Given the description of an element on the screen output the (x, y) to click on. 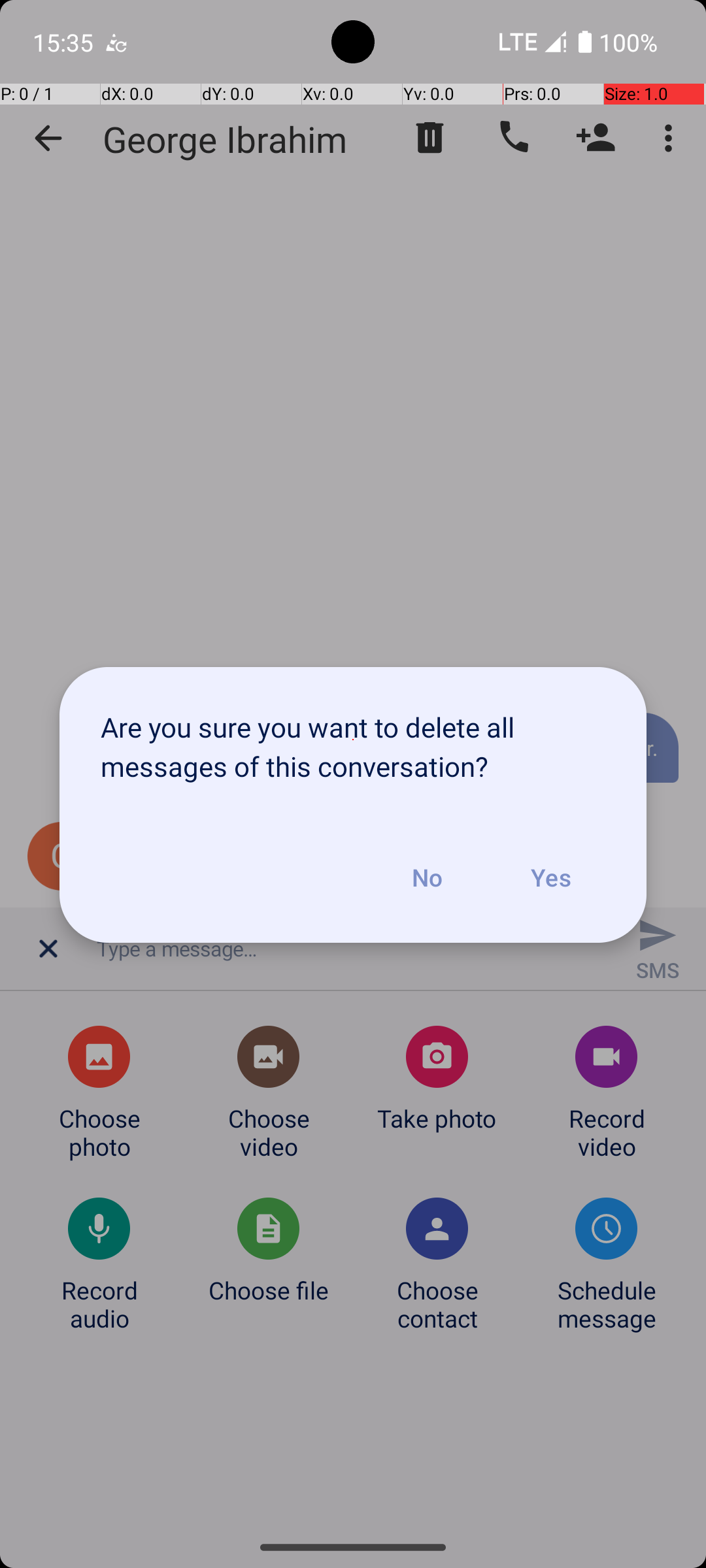
Are you sure you want to delete all messages of this conversation? Element type: android.widget.TextView (352, 739)
